Given the description of an element on the screen output the (x, y) to click on. 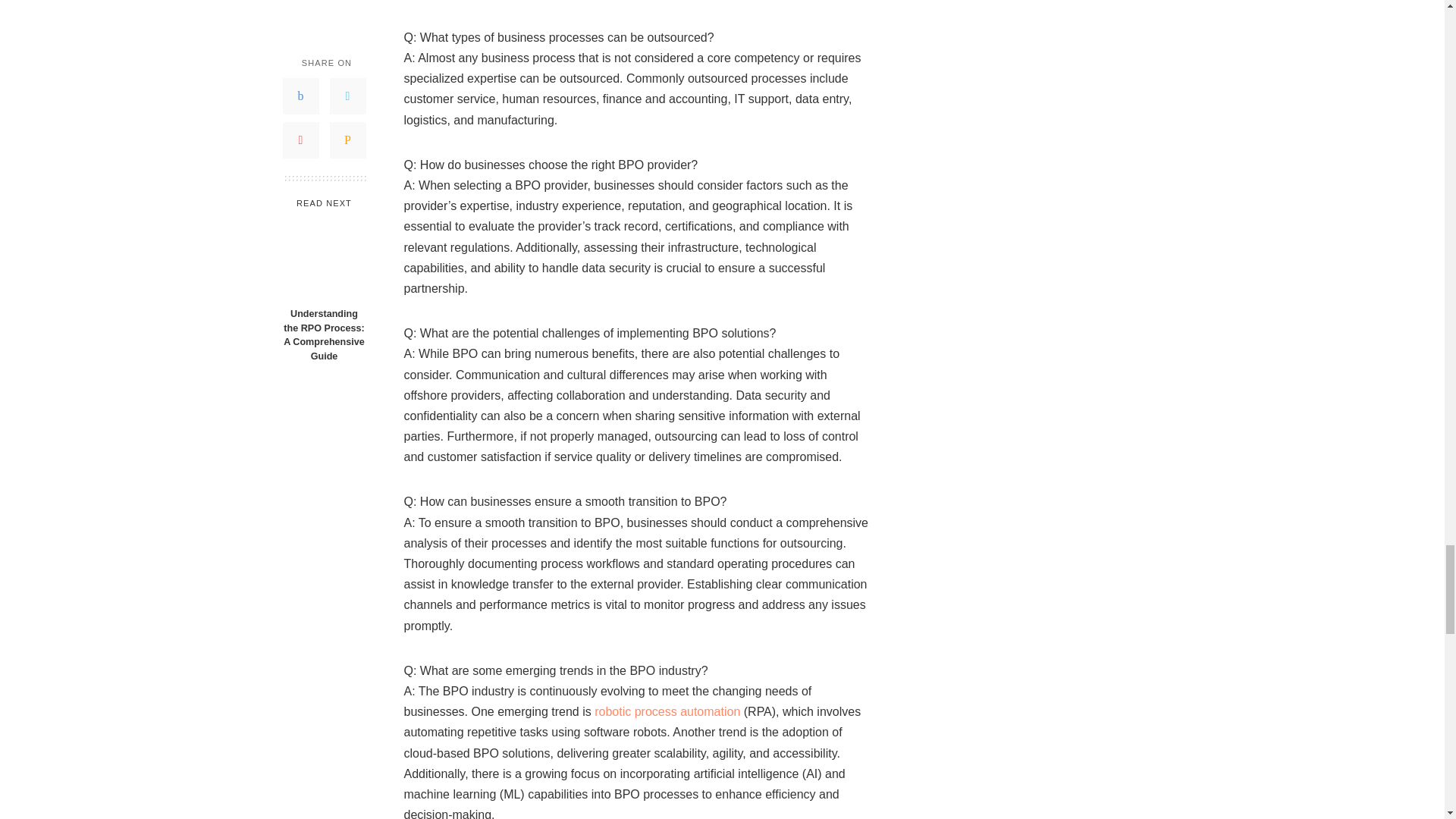
Exploring Outsource Companies: A Comprehensive Guide (666, 711)
robotic process automation (666, 711)
